Given the description of an element on the screen output the (x, y) to click on. 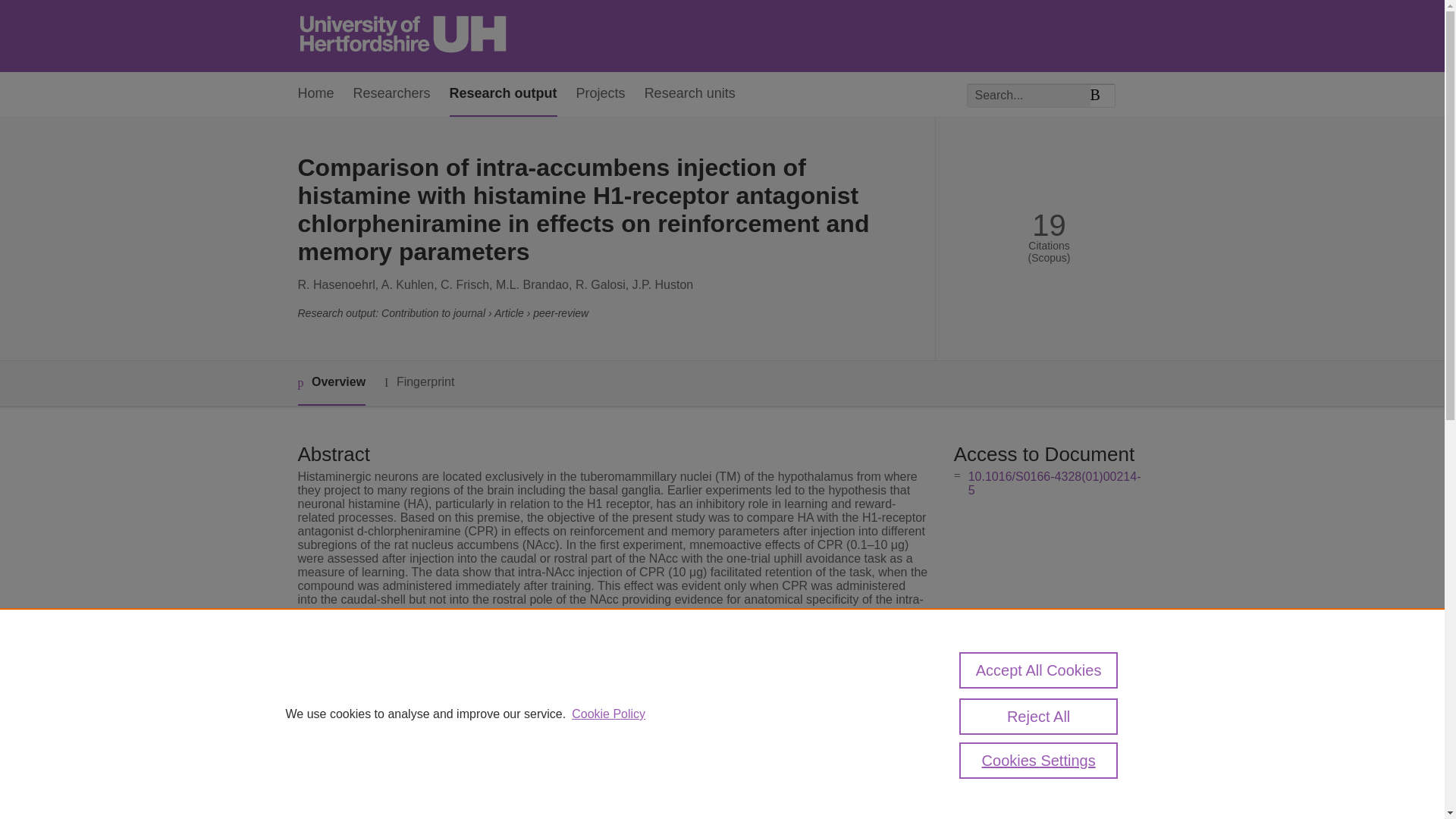
Reject All (1038, 716)
Overview (331, 383)
Projects (601, 94)
Research units (690, 94)
Researchers (391, 94)
Cookies Settings (1038, 760)
Research output (503, 94)
Fingerprint (419, 382)
Cookie Policy (608, 713)
Accept All Cookies (1038, 669)
Behavioural Brain Research (584, 809)
